Given the description of an element on the screen output the (x, y) to click on. 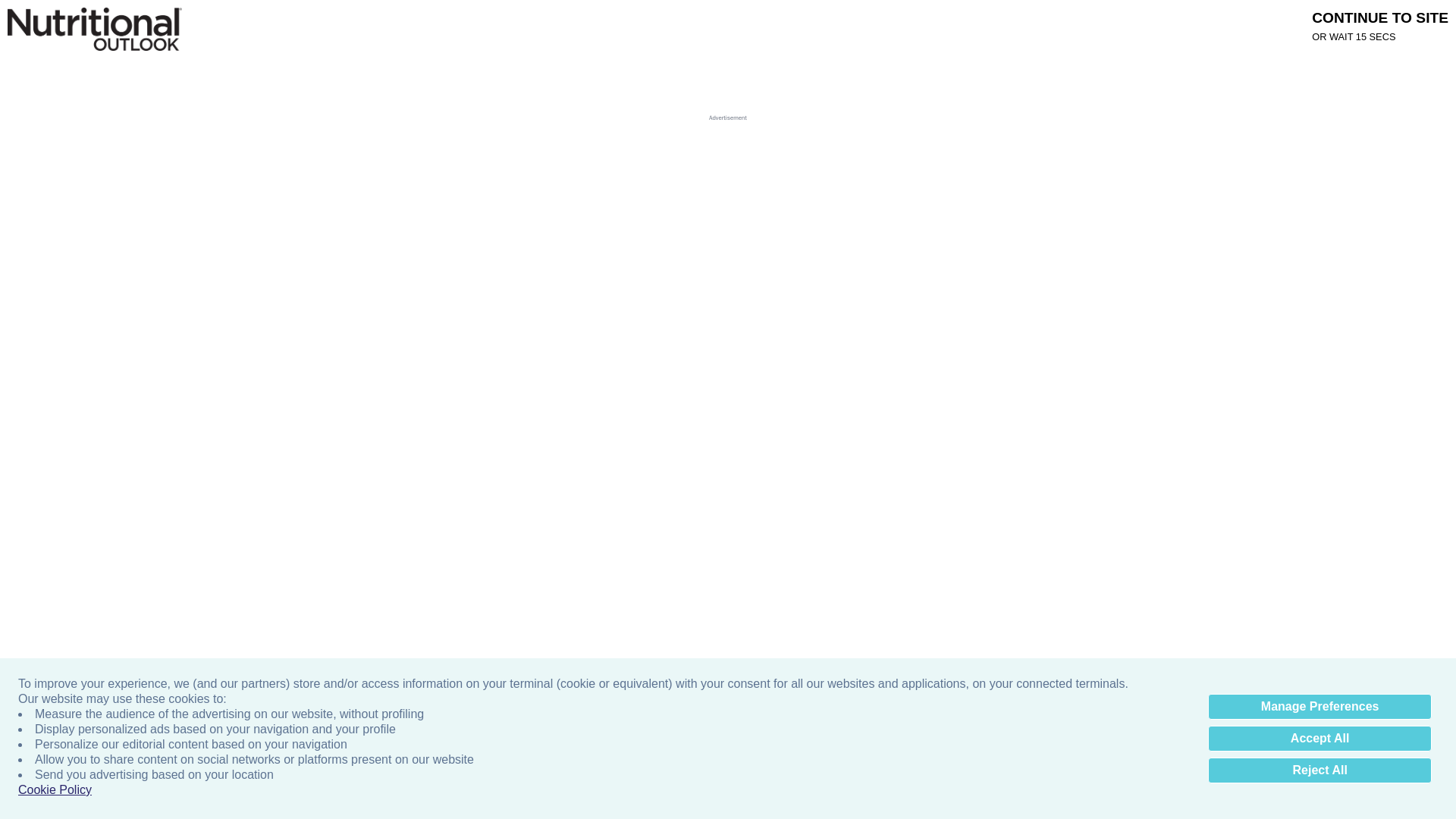
E-Books (659, 23)
Reject All (1319, 769)
Branded Hydroxytrosol Shows Record ORAC Value (250, 310)
WIN (899, 23)
Resources (849, 23)
Conferences (720, 23)
Manage Preferences (1319, 706)
Accept All (1319, 738)
Choose Topic (280, 66)
Awards (486, 23)
